Given the description of an element on the screen output the (x, y) to click on. 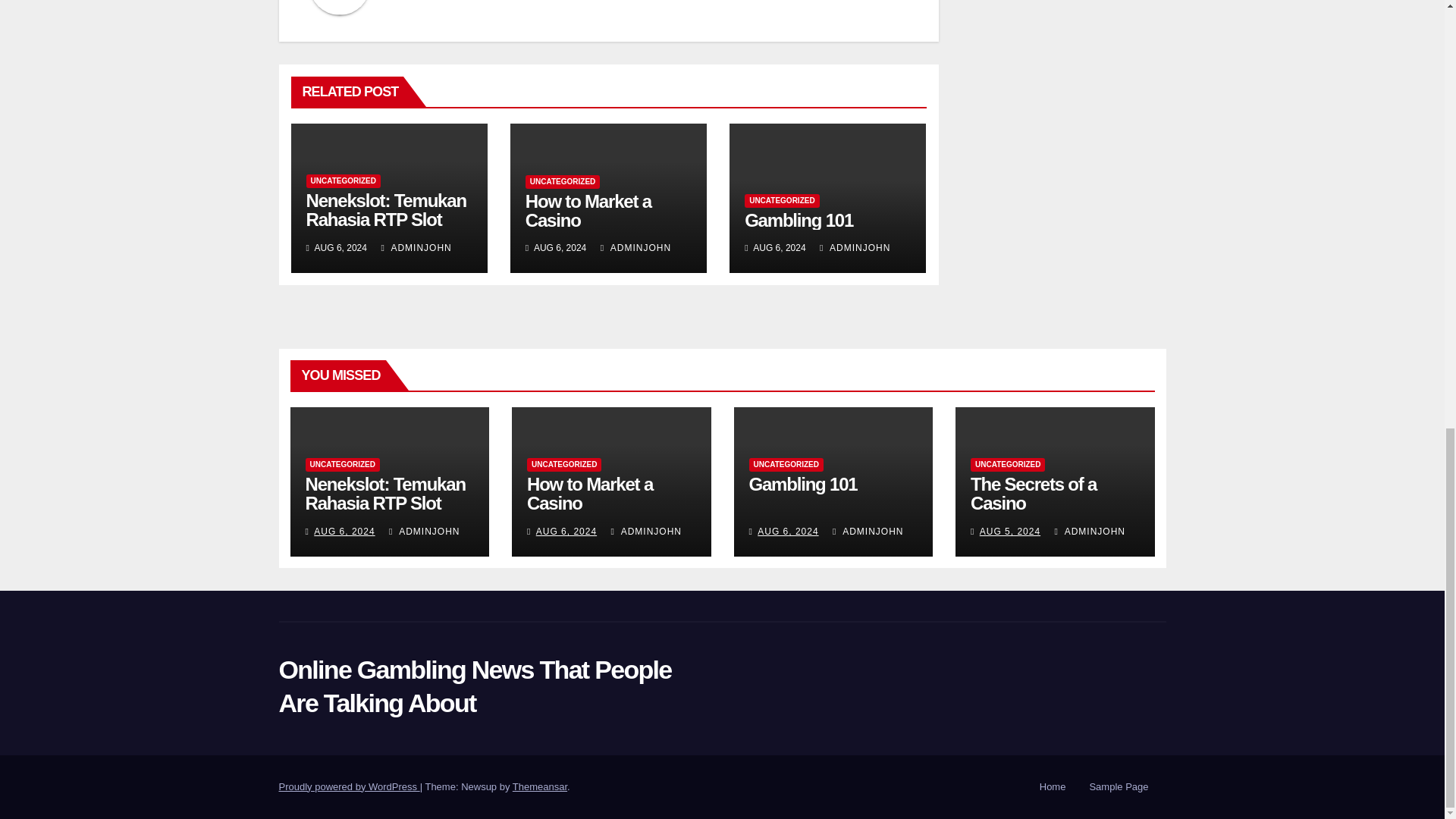
Gambling 101 (798, 219)
ADMINJOHN (854, 247)
Permalink to: How to Market a Casino (589, 493)
ADMINJOHN (415, 247)
Permalink to: The Secrets of a Casino (1033, 493)
How to Market a Casino (587, 210)
UNCATEGORIZED (342, 181)
Permalink to: Gambling 101 (803, 484)
Permalink to: How to Market a Casino (587, 210)
Home (1052, 786)
